Given the description of an element on the screen output the (x, y) to click on. 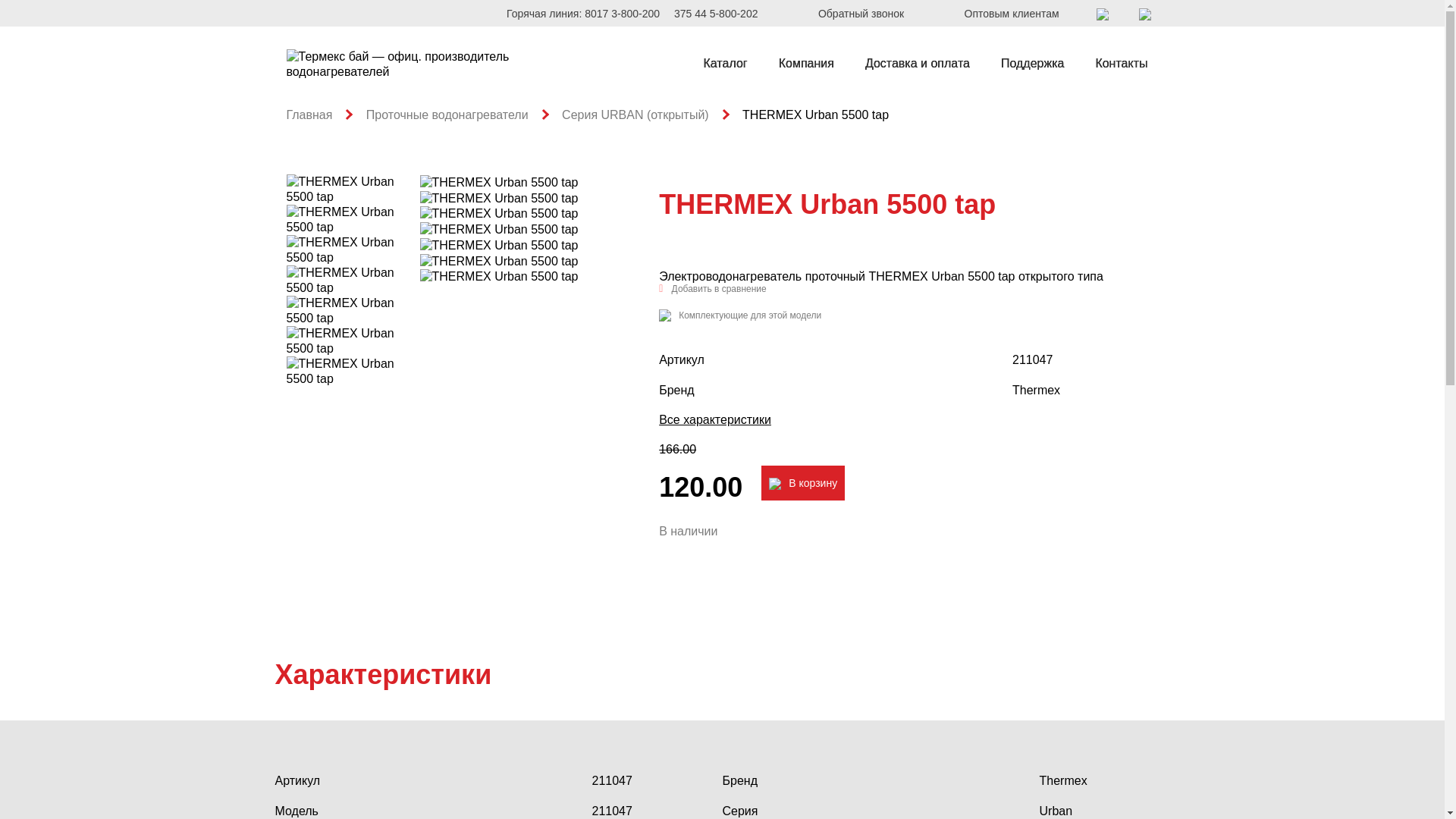
THERMEX Urban 5500 tap Element type: hover (499, 245)
8017 3-800-200 Element type: text (621, 13)
THERMEX Urban 5500 tap Element type: hover (353, 219)
THERMEX Urban 5500 tap Element type: hover (353, 310)
THERMEX Urban 5500 tap Element type: hover (353, 189)
THERMEX Urban 5500 tap Element type: hover (499, 182)
THERMEX Urban 5500 tap Element type: hover (353, 341)
THERMEX Urban 5500 tap Element type: hover (499, 213)
THERMEX Urban 5500 tap Element type: hover (499, 261)
THERMEX Urban 5500 tap Element type: hover (353, 250)
THERMEX Urban 5500 tap Element type: hover (499, 198)
THERMEX Urban 5500 tap Element type: hover (353, 371)
THERMEX Urban 5500 tap Element type: hover (499, 276)
THERMEX Urban 5500 tap Element type: hover (353, 280)
THERMEX Urban 5500 tap Element type: hover (499, 229)
